Given the description of an element on the screen output the (x, y) to click on. 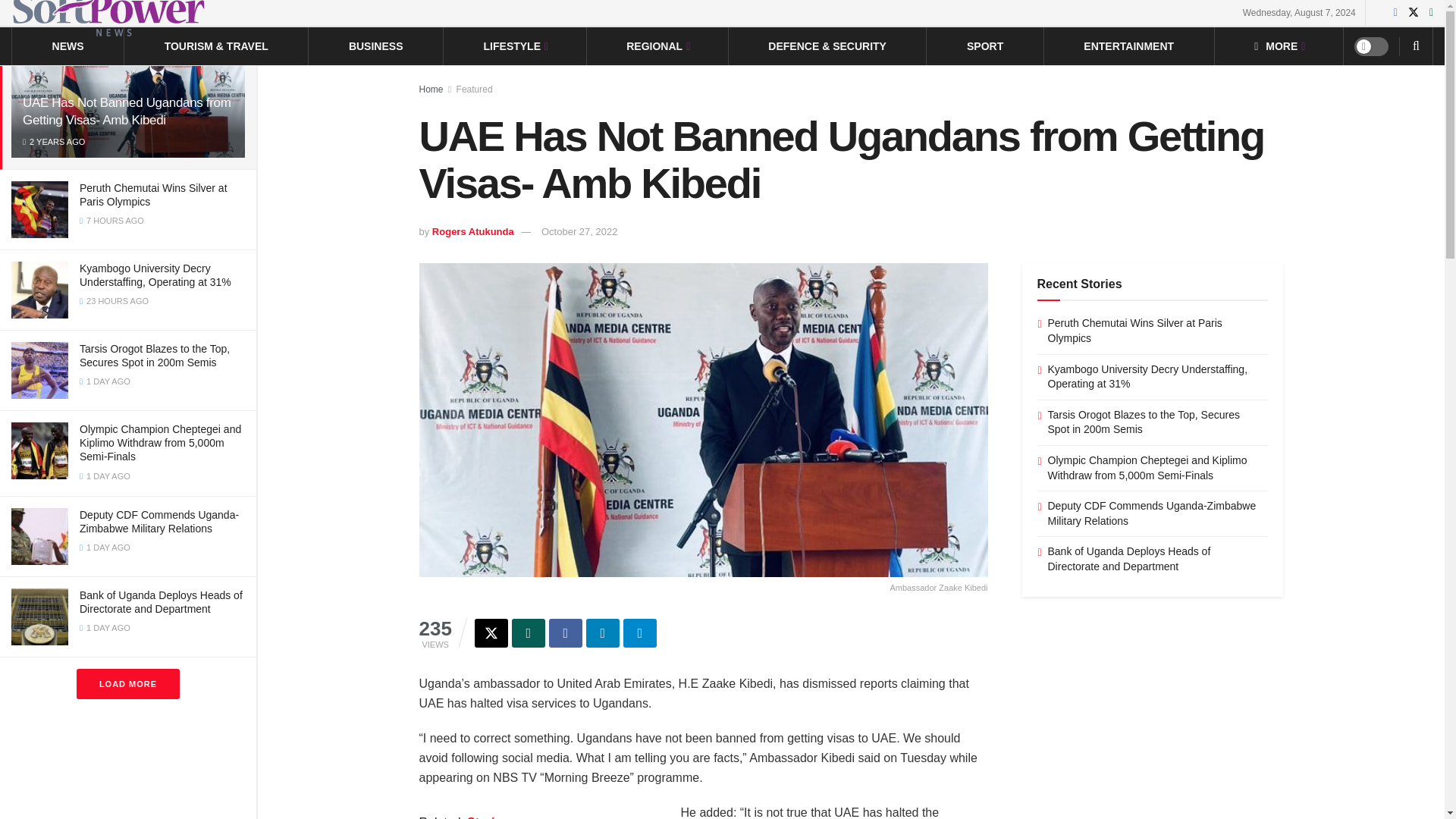
Bank of Uganda Deploys Heads of Directorate and Department (161, 601)
SPORT (984, 46)
MORE (1278, 46)
NEWS (68, 46)
BUSINESS (376, 46)
Deputy CDF Commends Uganda-Zimbabwe Military Relations (159, 521)
LOAD MORE (128, 684)
Peruth Chemutai Wins Silver at Paris Olympics (153, 194)
LIFESTYLE (515, 46)
UAE Has Not Banned Ugandans from Getting Visas- Amb Kibedi (127, 111)
ENTERTAINMENT (1128, 46)
REGIONAL (656, 46)
